Given the description of an element on the screen output the (x, y) to click on. 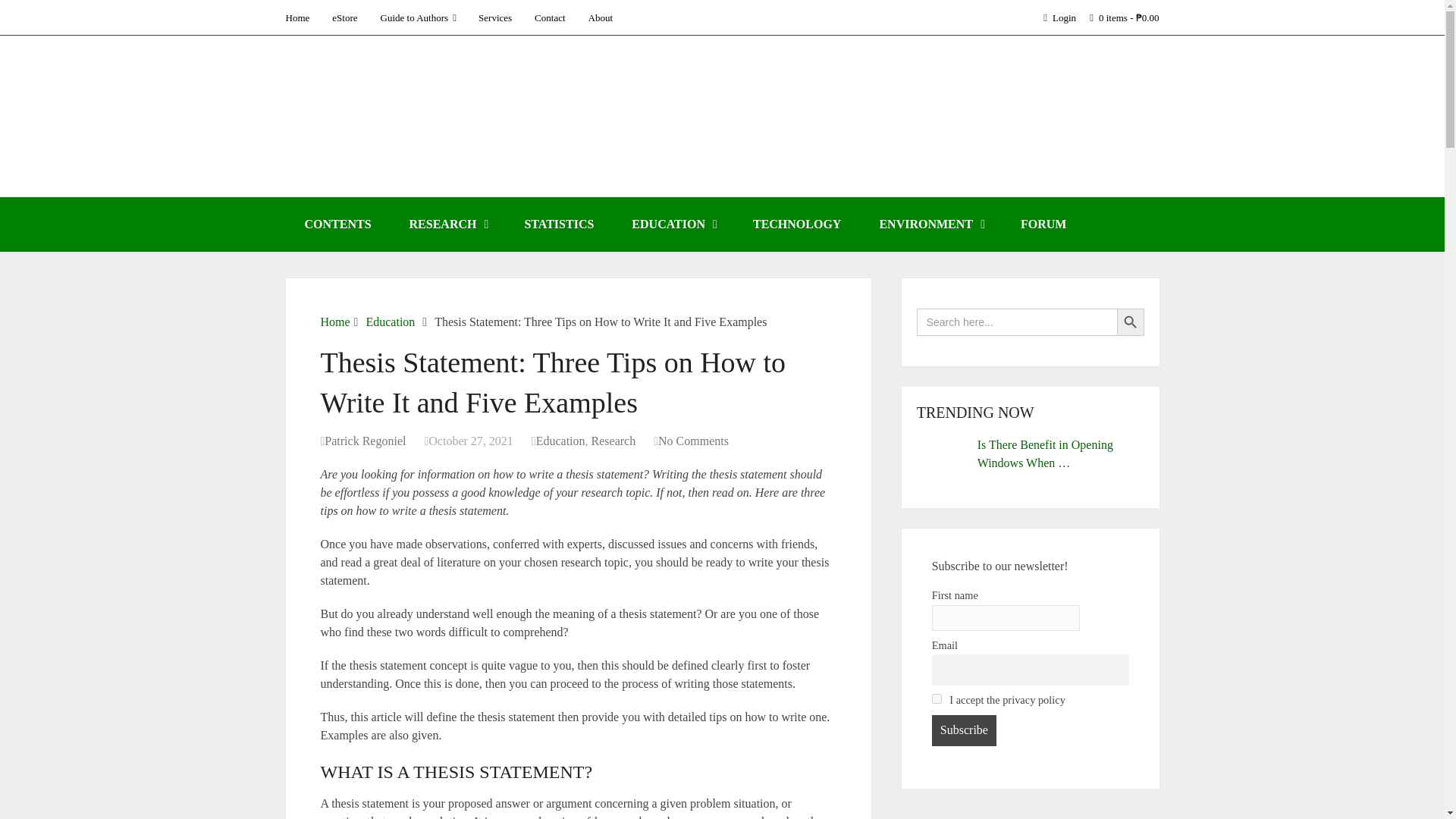
STATISTICS (558, 224)
Services (494, 17)
on (936, 698)
Posts by Patrick Regoniel (365, 440)
RESEARCH (447, 224)
View all posts in Education (560, 440)
FORUM (1042, 224)
Home (334, 321)
CONTENTS (337, 224)
TECHNOLOGY (796, 224)
About (600, 17)
Login (1068, 17)
Home (302, 17)
Subscribe (963, 729)
View all posts in Research (613, 440)
